Given the description of an element on the screen output the (x, y) to click on. 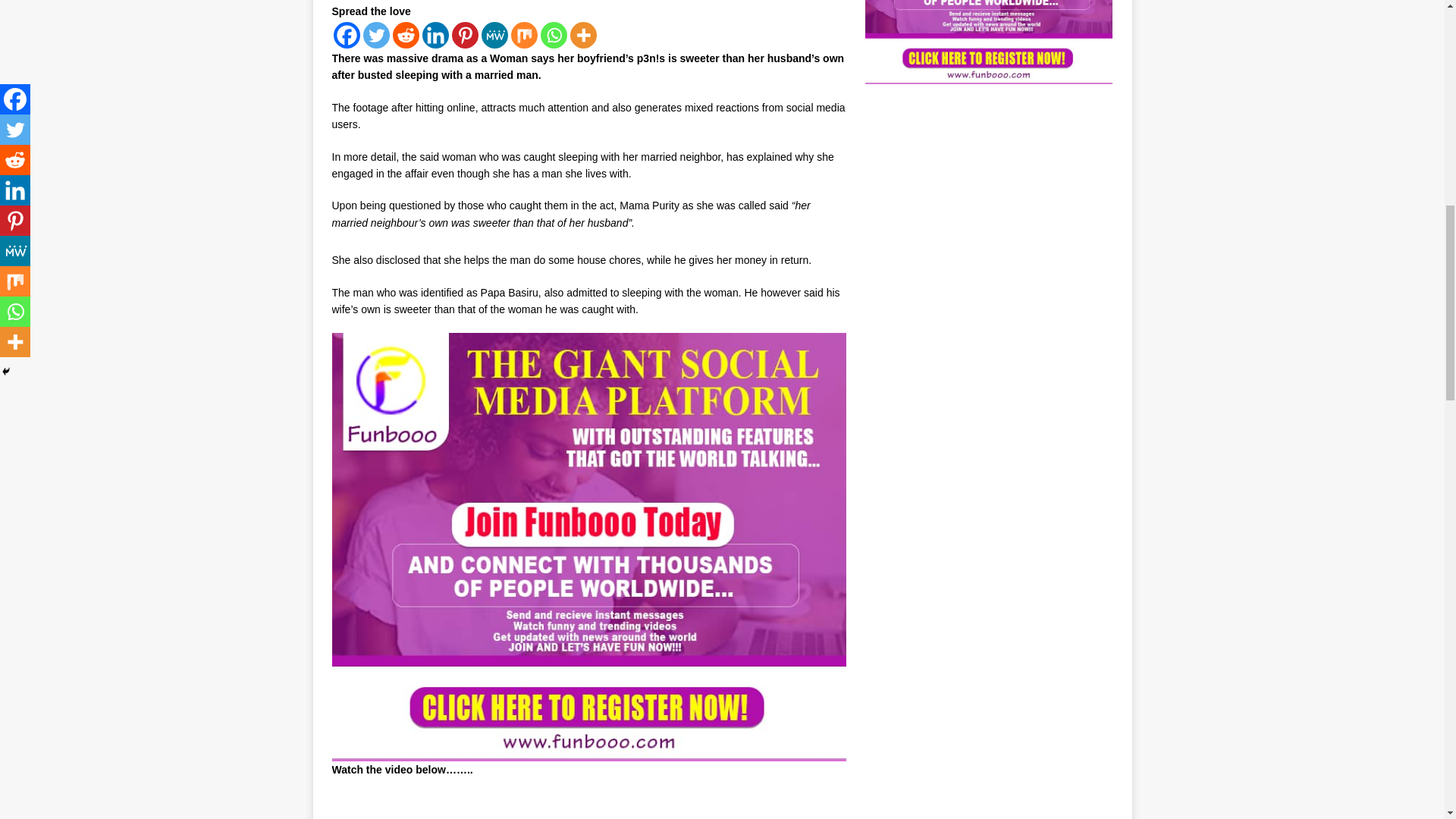
Linkedin (435, 35)
Whatsapp (553, 35)
Reddit (406, 35)
MeWe (493, 35)
Pinterest (465, 35)
Twitter (375, 35)
More (583, 35)
Mix (524, 35)
Facebook (346, 35)
